Given the description of an element on the screen output the (x, y) to click on. 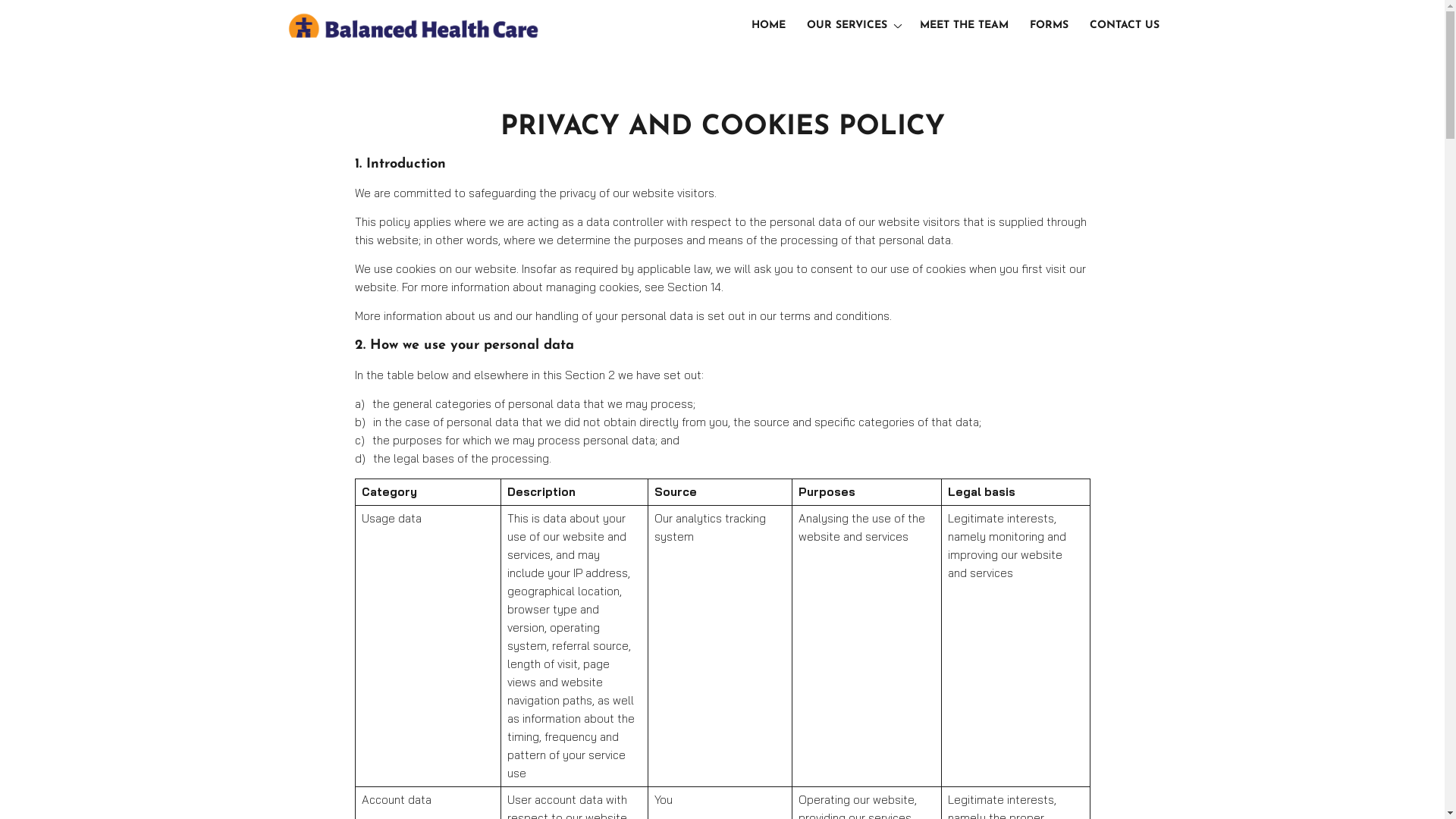
CONTACT US Element type: text (1124, 25)
HOME Element type: text (768, 25)
MEET THE TEAM Element type: text (964, 25)
OUR SERVICES Element type: text (851, 25)
FORMS Element type: text (1048, 25)
